Given the description of an element on the screen output the (x, y) to click on. 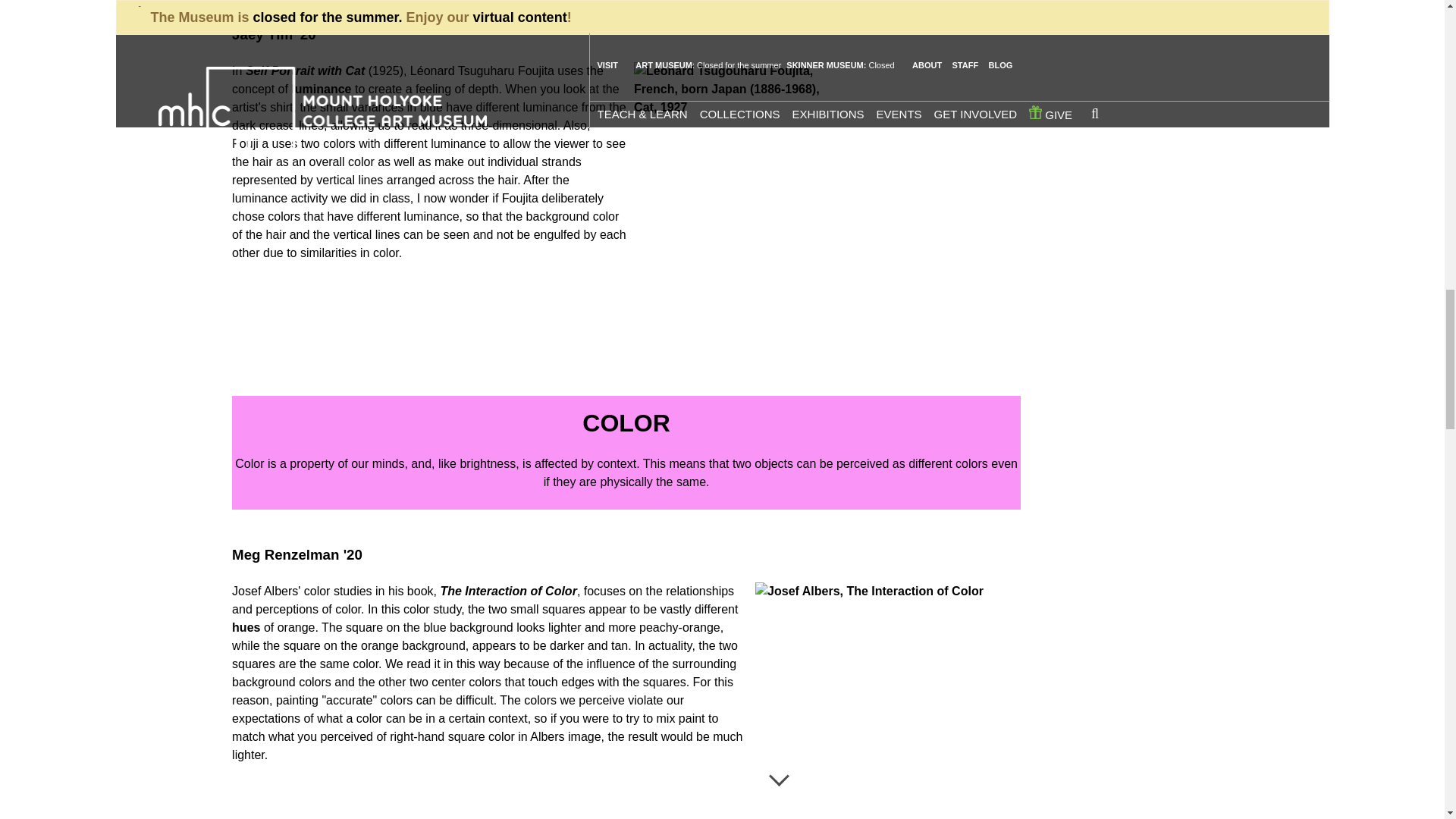
Chihuly, Dale, Clear and Gold Tower (922, 60)
Josef Albers, The Interaction of Color (884, 685)
